Given the description of an element on the screen output the (x, y) to click on. 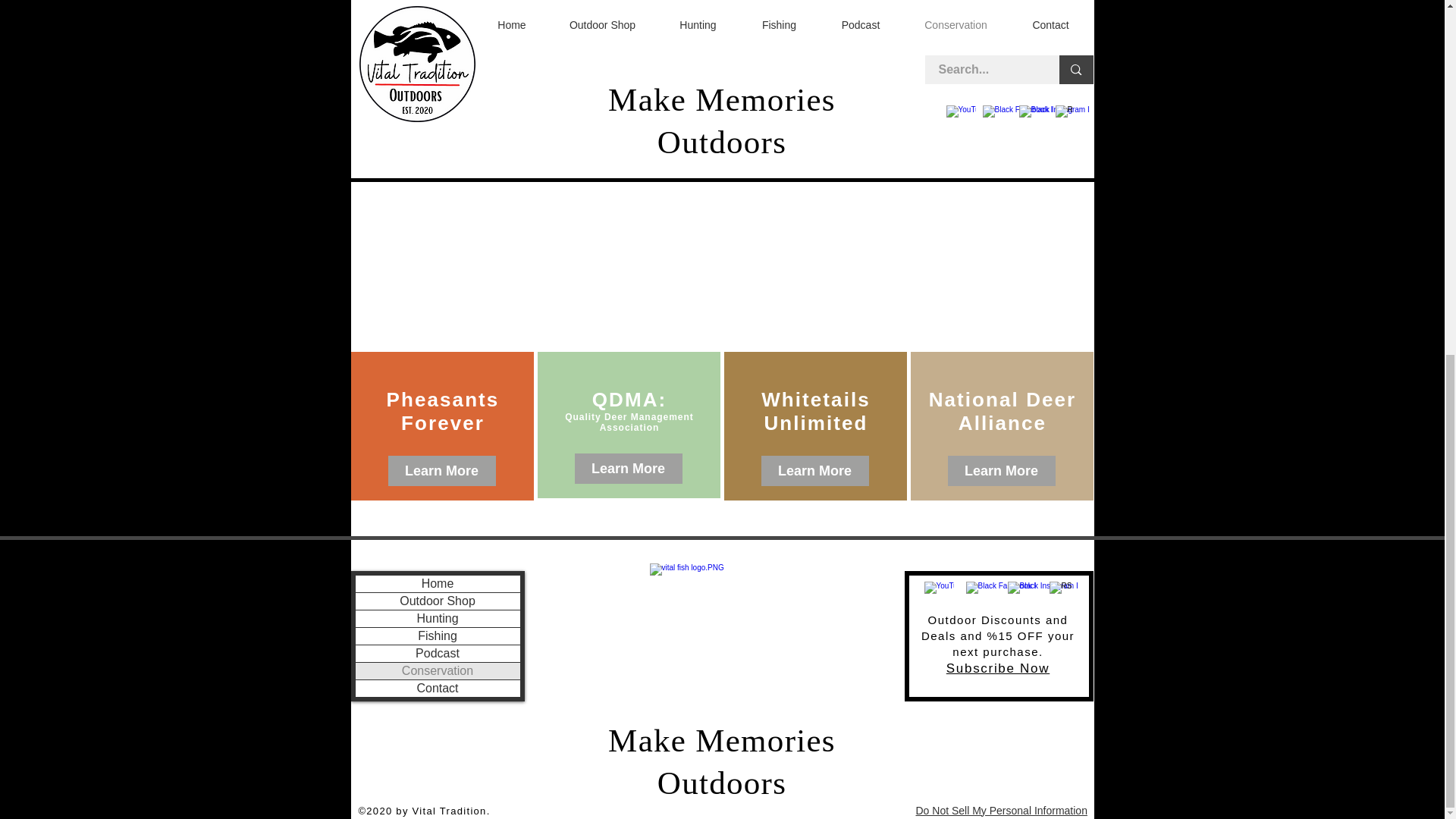
Learn More (1001, 470)
Learn More (442, 470)
Learn More (628, 468)
Learn More (815, 470)
Outdoor Shop (437, 600)
Home (437, 583)
